Given the description of an element on the screen output the (x, y) to click on. 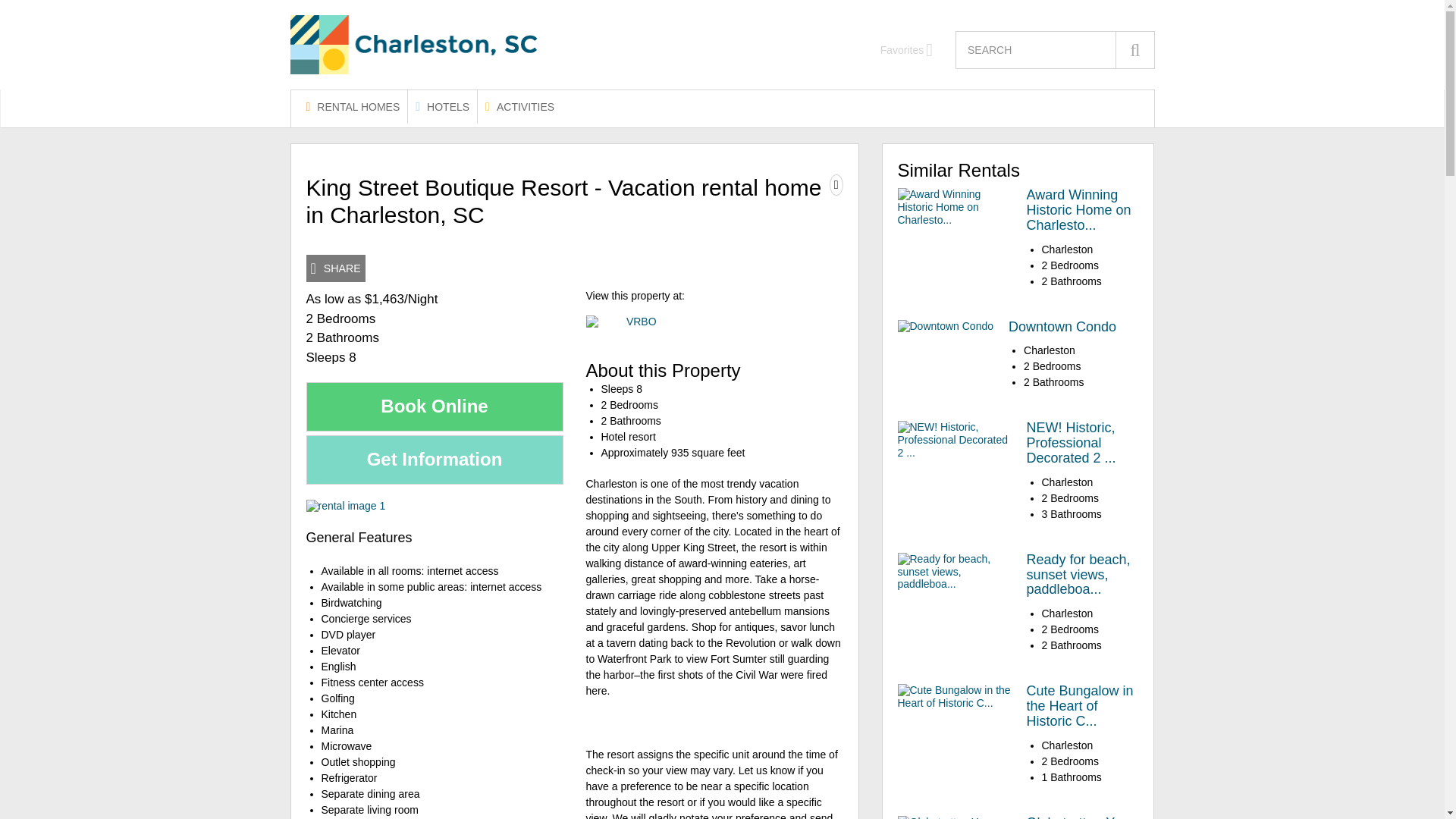
ACTIVITIES (519, 106)
SHARE (335, 267)
Award Winning Historic Home on Charlesto... (1078, 209)
Favorites (906, 49)
Book Online (434, 406)
Get Information (434, 459)
HOTELS (442, 106)
RENTAL HOMES (352, 106)
